Given the description of an element on the screen output the (x, y) to click on. 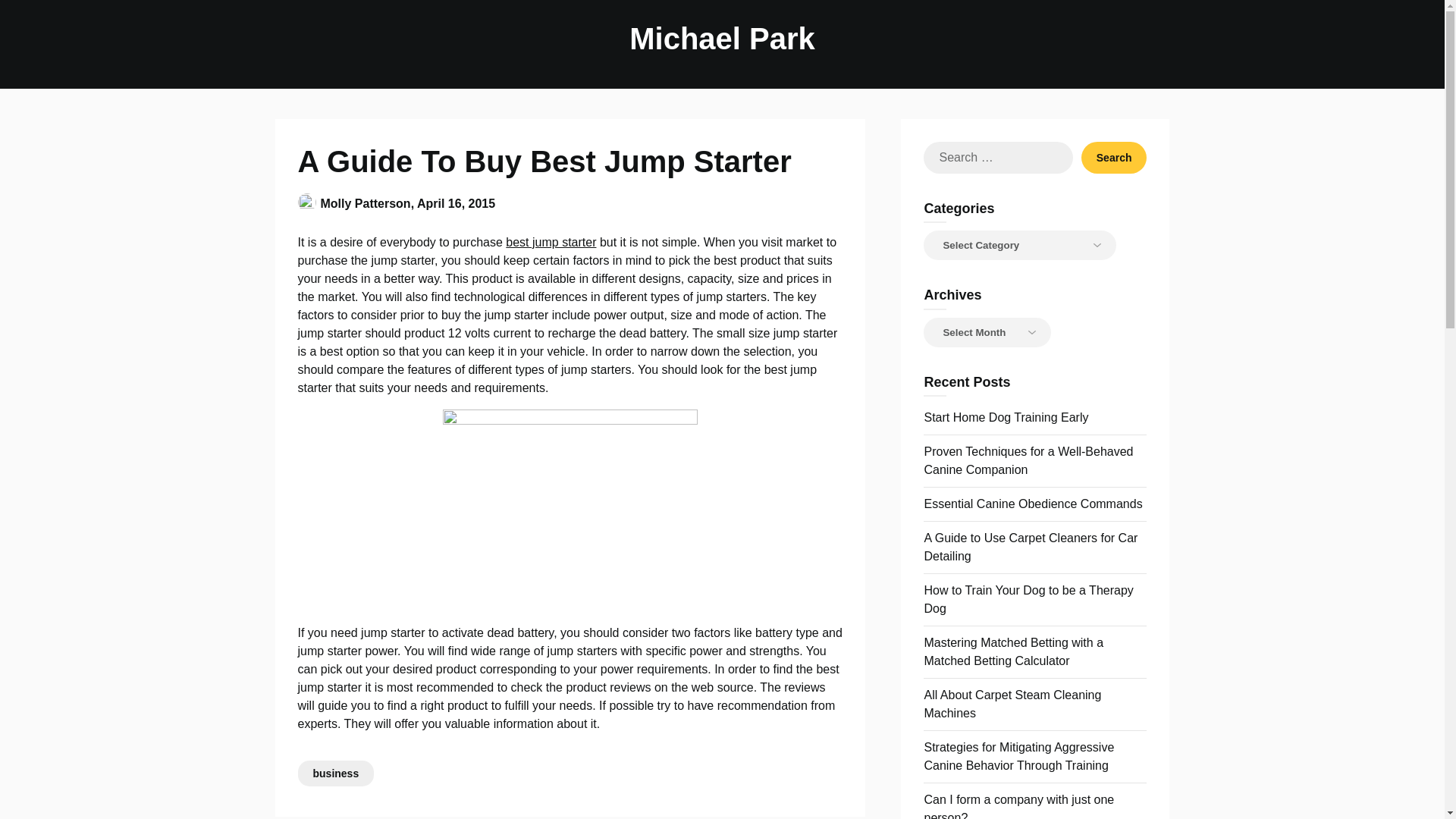
A Guide to Use Carpet Cleaners for Car Detailing (1030, 546)
Search (1114, 157)
Search (1114, 157)
Essential Canine Obedience Commands (1032, 503)
Proven Techniques for a Well-Behaved Canine Companion (1027, 460)
Can I form a company with just one person? (1018, 806)
All About Carpet Steam Cleaning Machines (1011, 703)
How to Train Your Dog to be a Therapy Dog (1027, 599)
Search (1114, 157)
